Given the description of an element on the screen output the (x, y) to click on. 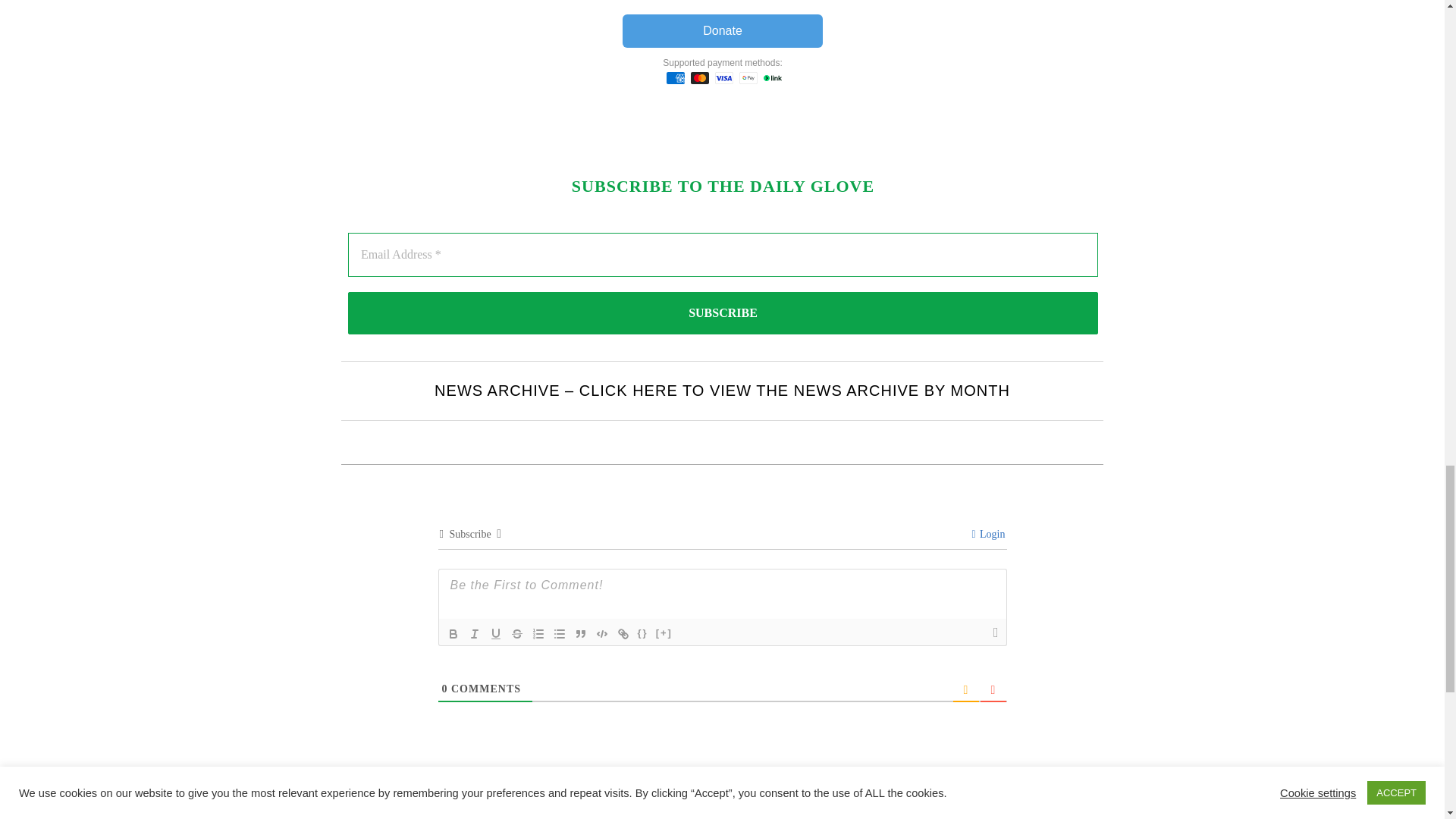
Unordered List (559, 633)
Code Block (601, 633)
Email Address (722, 254)
Strike (516, 633)
SUBSCRIBE (722, 312)
Ordered List (537, 633)
Underline (495, 633)
Italic (474, 633)
Bold (453, 633)
Blockquote (580, 633)
